Given the description of an element on the screen output the (x, y) to click on. 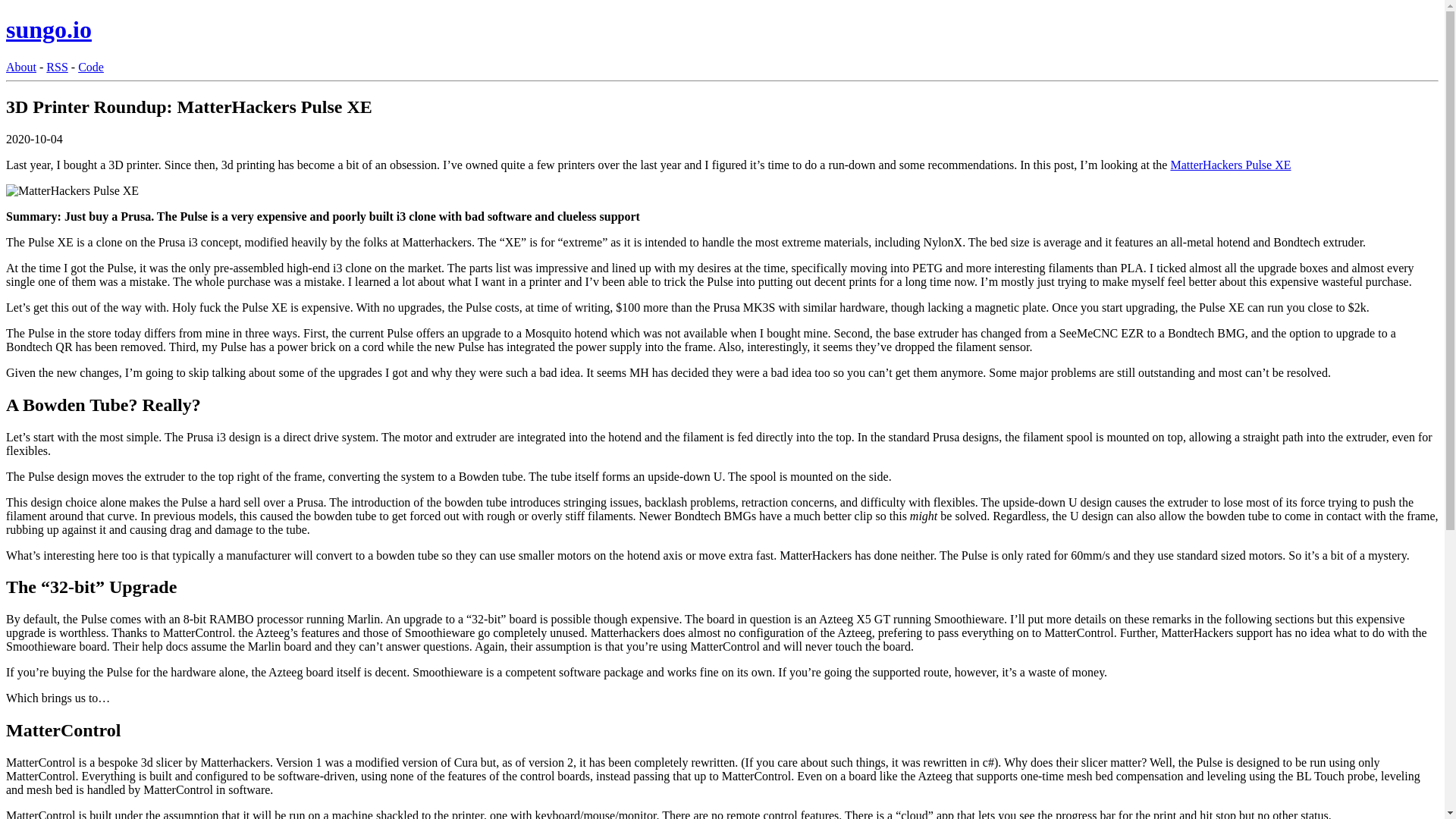
Code (90, 66)
About (20, 66)
RSS (56, 66)
MatterHackers Pulse XE (1230, 164)
sungo.io (48, 29)
